Given the description of an element on the screen output the (x, y) to click on. 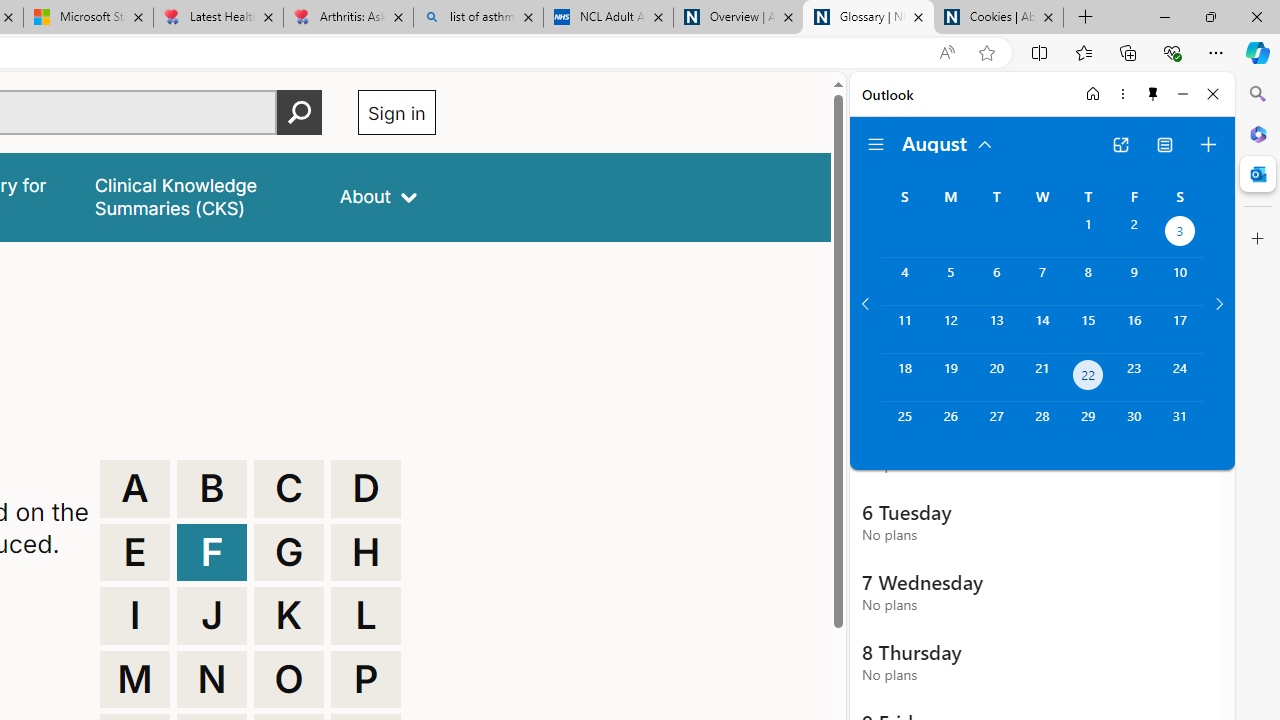
Wednesday, August 28, 2024.  (1042, 425)
Monday, August 5, 2024.  (950, 281)
Tuesday, August 20, 2024.  (996, 377)
K (289, 615)
August (948, 141)
Sunday, August 4, 2024.  (904, 281)
Friday, August 16, 2024.  (1134, 329)
Monday, August 26, 2024.  (950, 425)
N (212, 679)
K (289, 615)
